Given the description of an element on the screen output the (x, y) to click on. 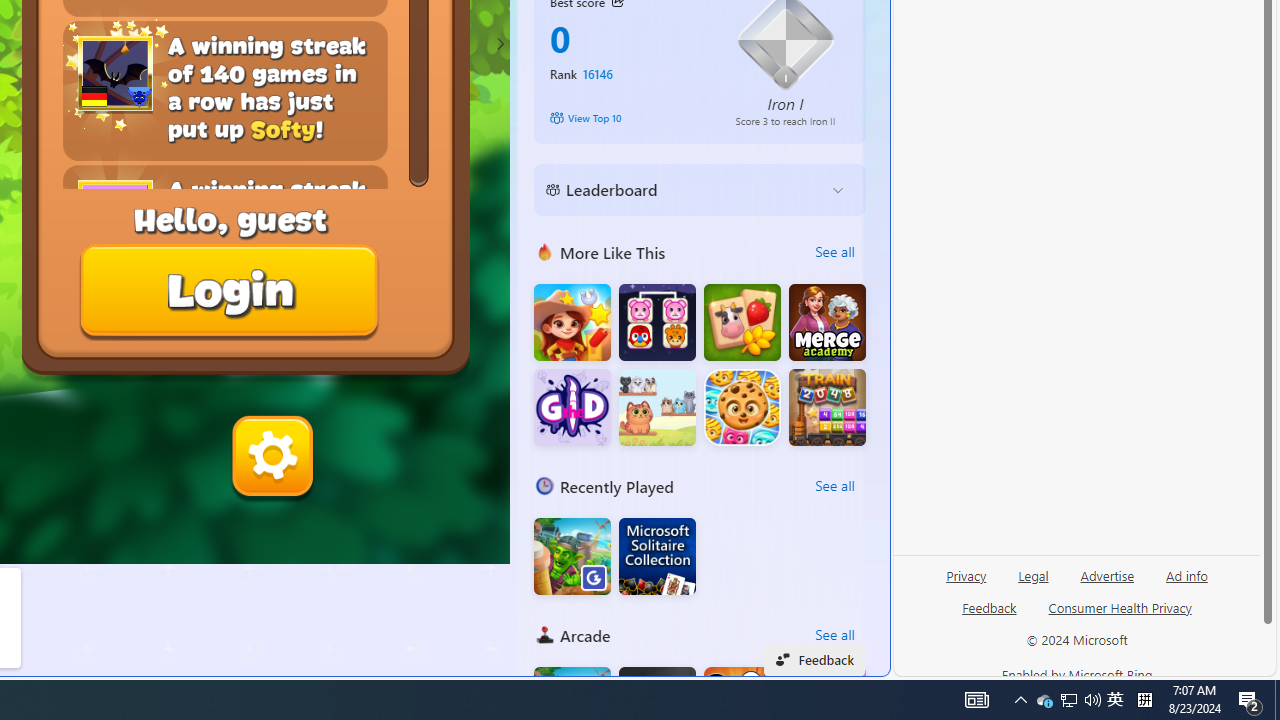
Ad info (1187, 574)
MSN (687, 223)
See all (834, 634)
View Top 10 (628, 118)
Guess the Drawing (571, 407)
google_privacy_policy_zh-CN.pdf (687, 482)
Wild West Match (571, 322)
Onet Connect (657, 322)
